Given the description of an element on the screen output the (x, y) to click on. 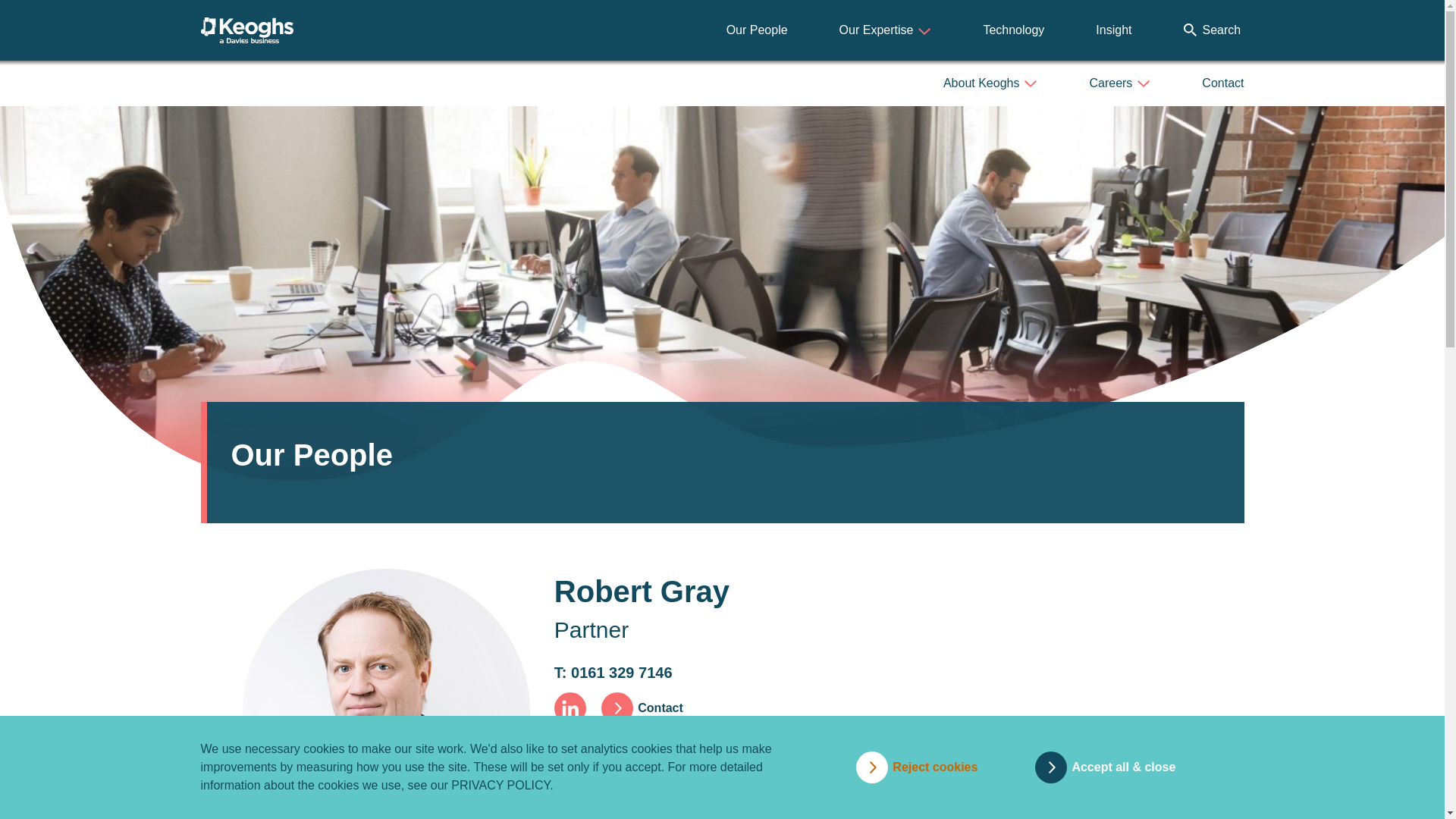
Our Expertise (885, 30)
Technology (1012, 30)
Our People (756, 30)
View Robert on LinkedIn (570, 707)
